Given the description of an element on the screen output the (x, y) to click on. 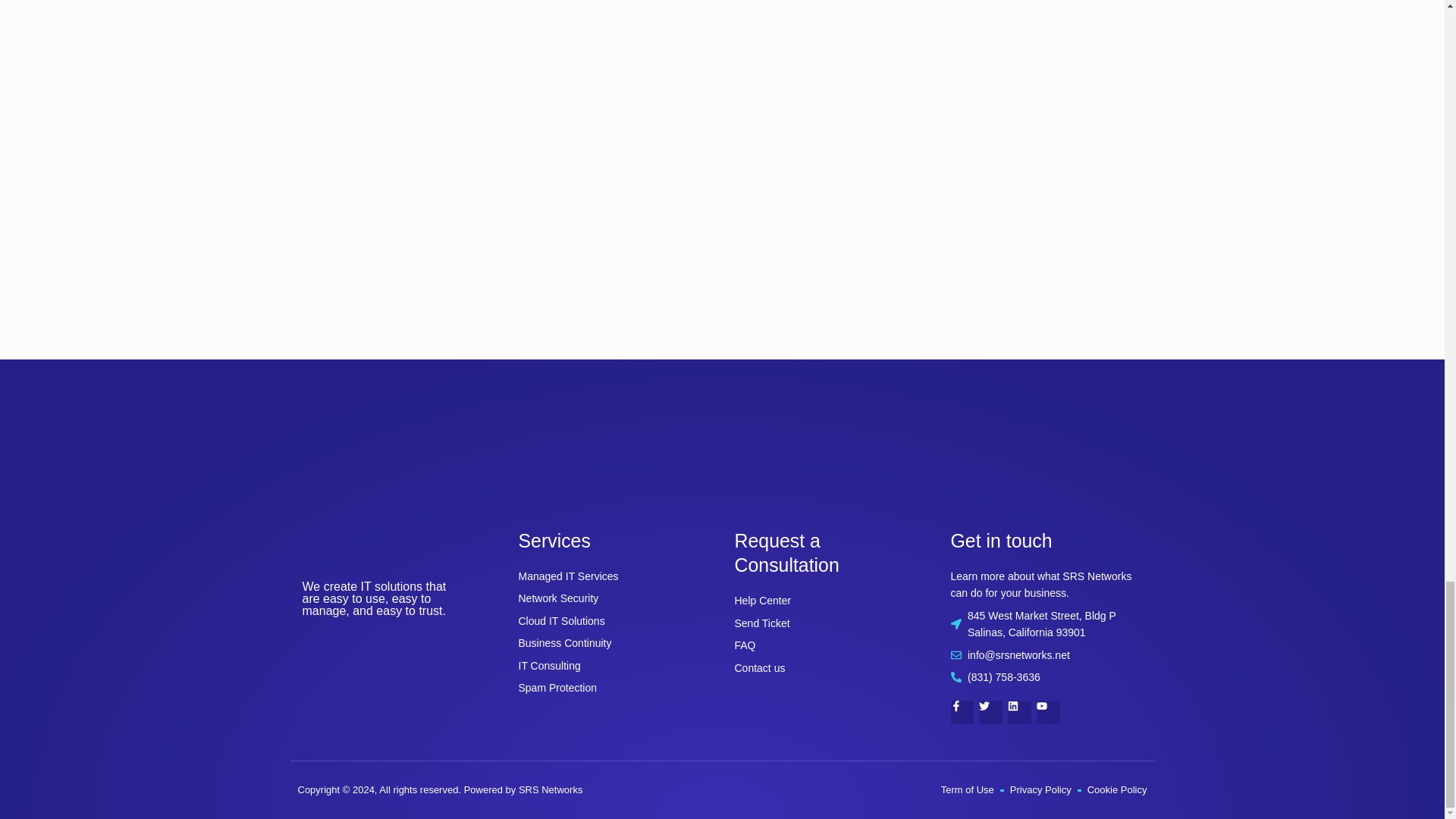
logo (374, 546)
